Given the description of an element on the screen output the (x, y) to click on. 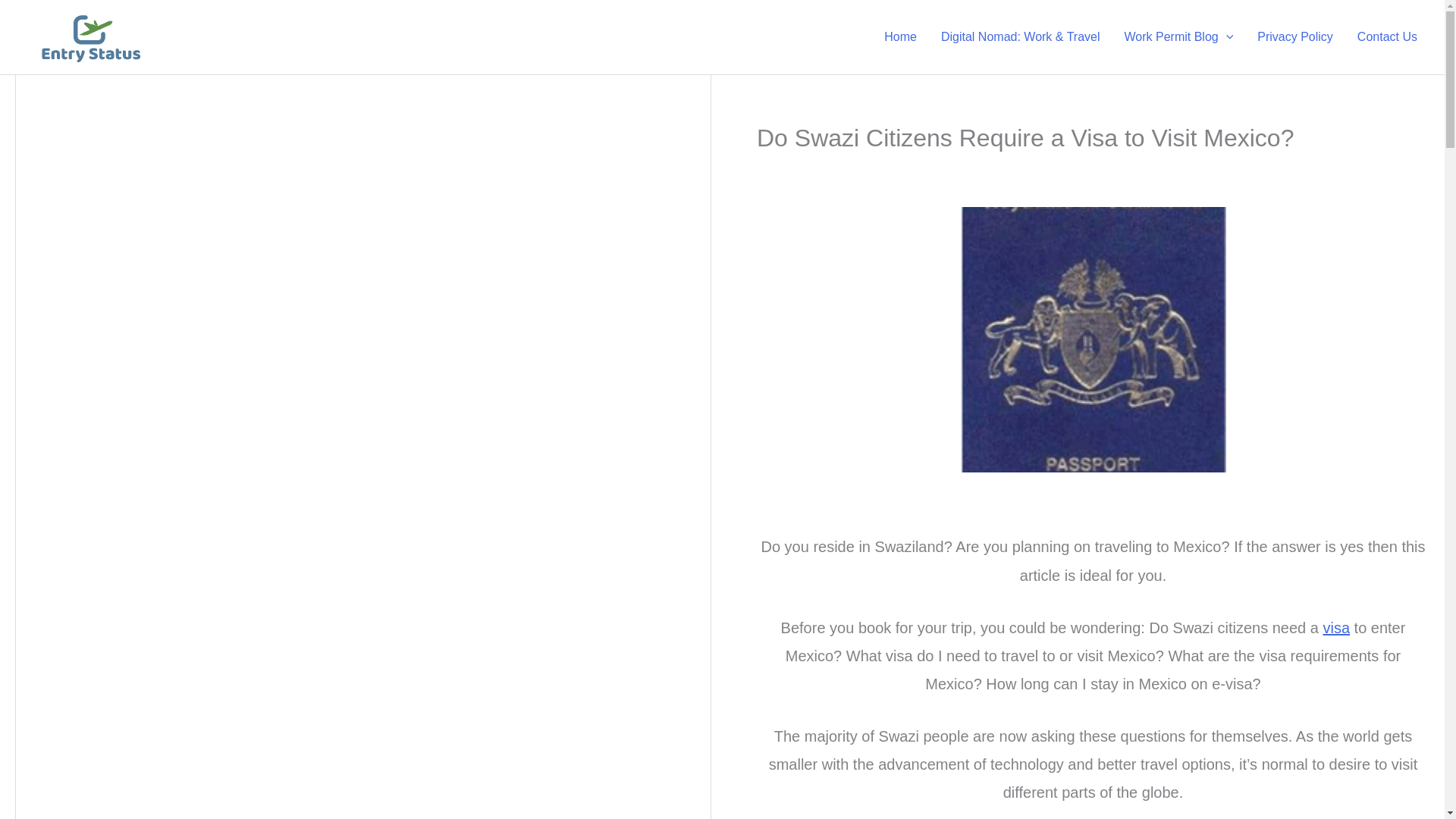
Privacy Policy (1294, 36)
Work Permit Blog (1178, 36)
Contact Us (1387, 36)
Home (900, 36)
visa (1335, 627)
